Given the description of an element on the screen output the (x, y) to click on. 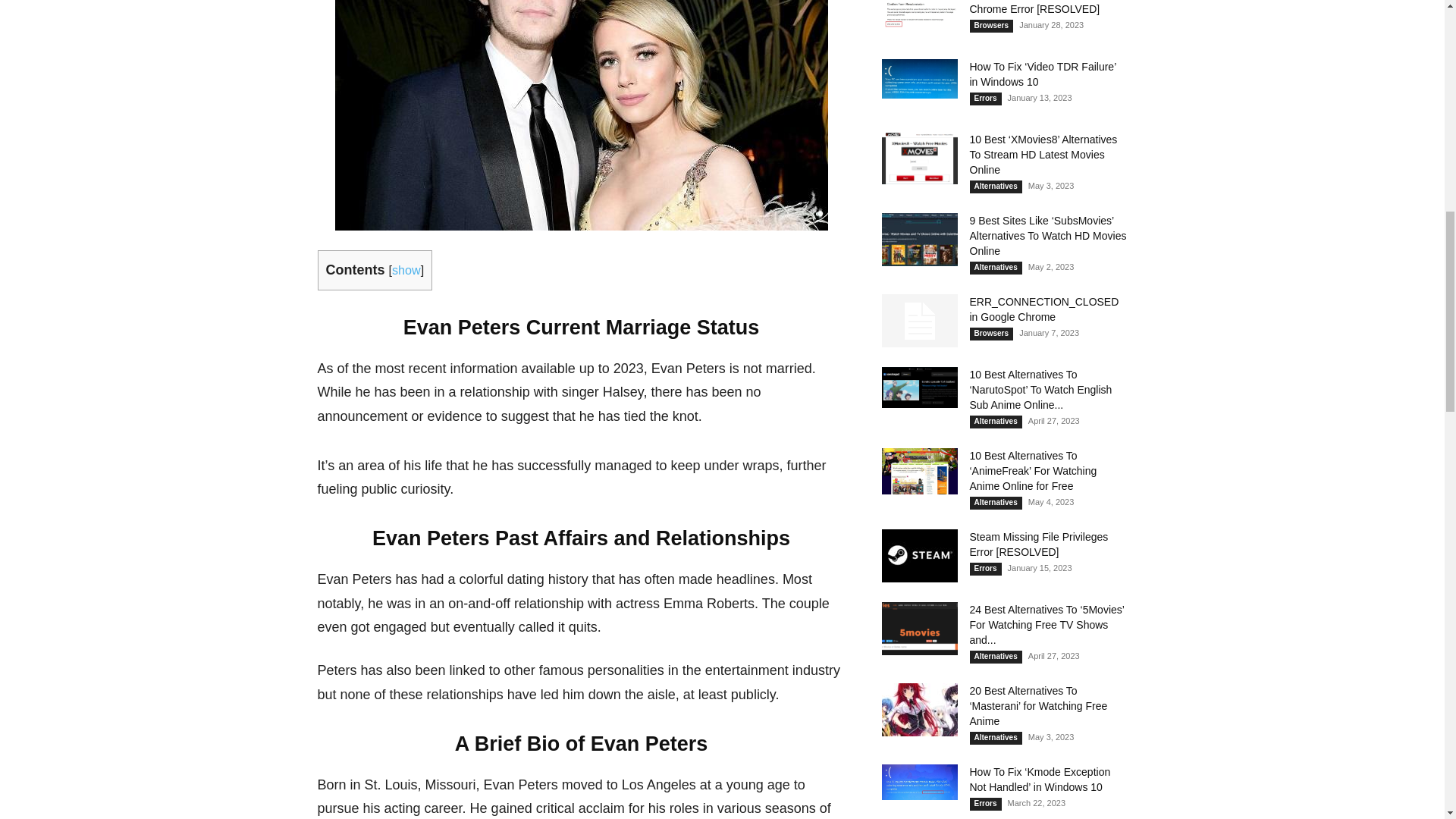
show (405, 269)
